Given the description of an element on the screen output the (x, y) to click on. 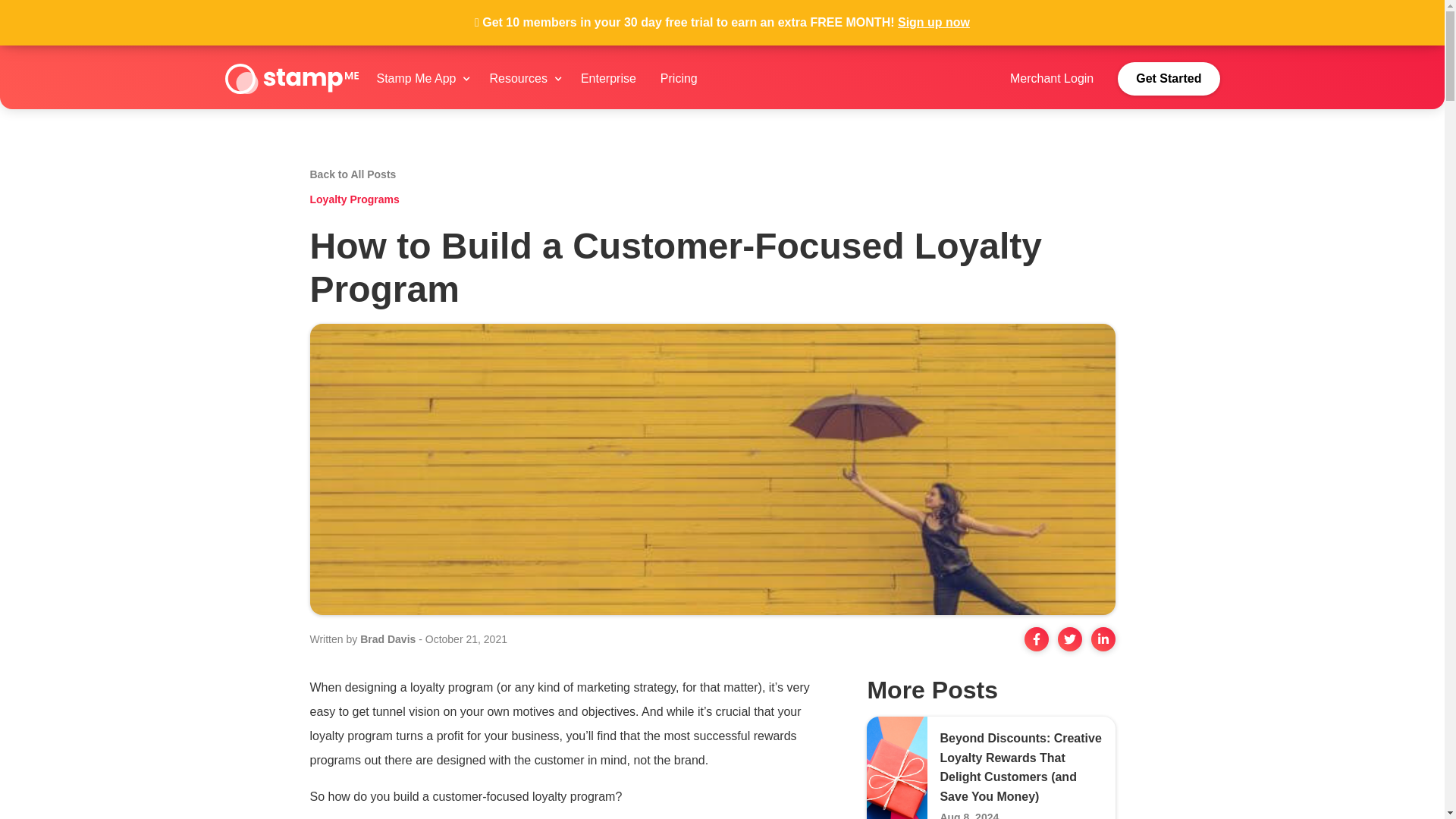
Enterprise (608, 78)
Back to All Posts (352, 174)
Merchant Login (1051, 78)
Get Started (1169, 79)
Share to Twitter (1069, 639)
Share to Linkedin (1102, 639)
Pricing (678, 78)
Merchant Login (1051, 78)
Sign up now (933, 25)
Share to Facebook (1036, 639)
